Given the description of an element on the screen output the (x, y) to click on. 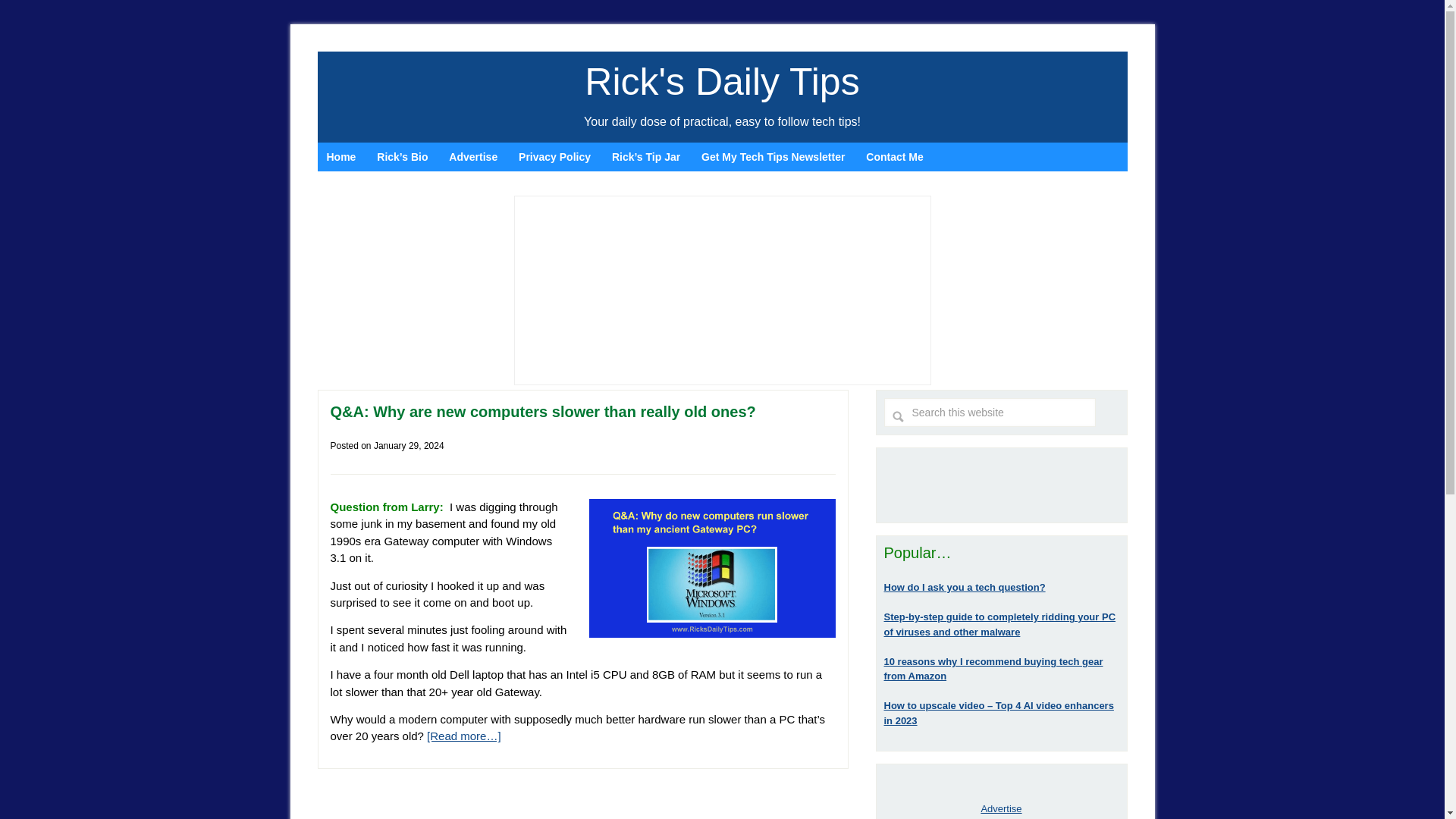
How do I ask you a tech question? (964, 586)
Rick's Daily Tips (722, 81)
Privacy Policy (554, 156)
Contact Me (894, 156)
10 reasons why I recommend buying tech gear from Amazon (993, 669)
Advertise (472, 156)
Home (341, 156)
